Given the description of an element on the screen output the (x, y) to click on. 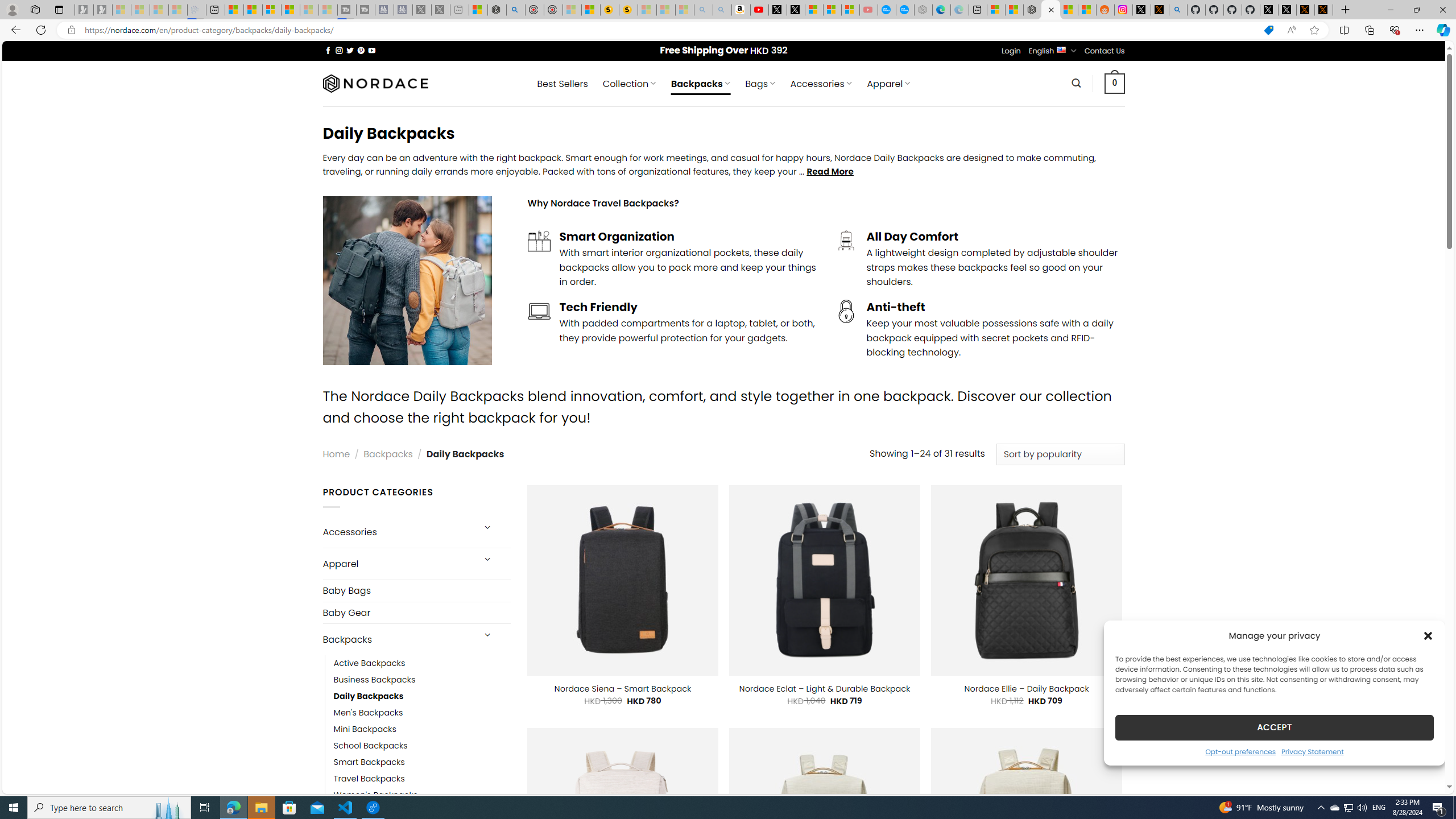
Newsletter Sign Up - Sleeping (102, 9)
Follow on Twitter (349, 49)
Mini Backpacks (422, 729)
School Backpacks (370, 746)
Login (1010, 50)
 0  (1115, 83)
Read More (829, 171)
Overview (271, 9)
